Given the description of an element on the screen output the (x, y) to click on. 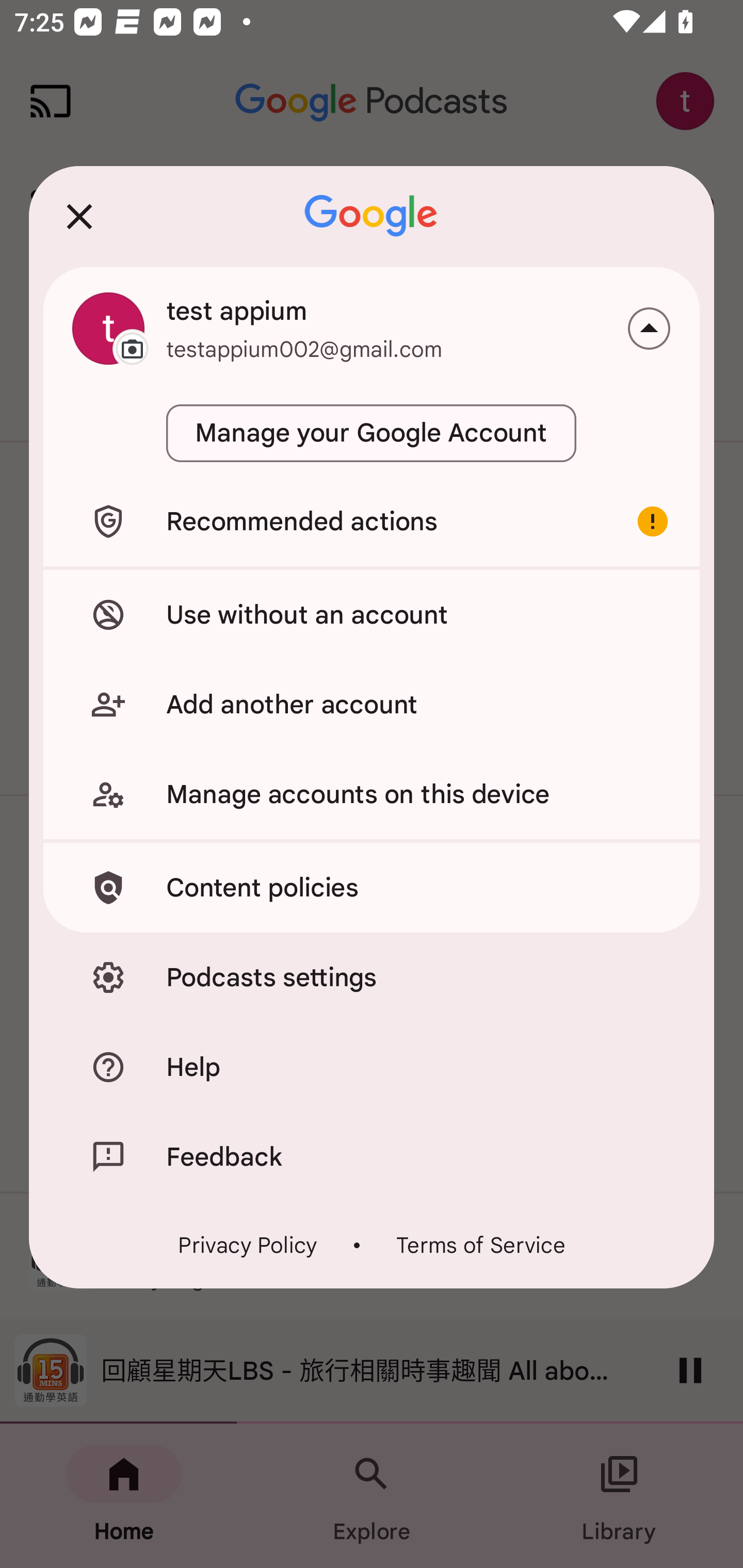
Close (79, 216)
Change profile picture. (108, 328)
Manage your Google Account (371, 433)
Recommended actions Important account alert (371, 521)
Use without an account (371, 614)
Add another account (371, 704)
Manage accounts on this device (371, 793)
Content policies (371, 887)
Privacy Policy (247, 1244)
Terms of Service (479, 1244)
